Given the description of an element on the screen output the (x, y) to click on. 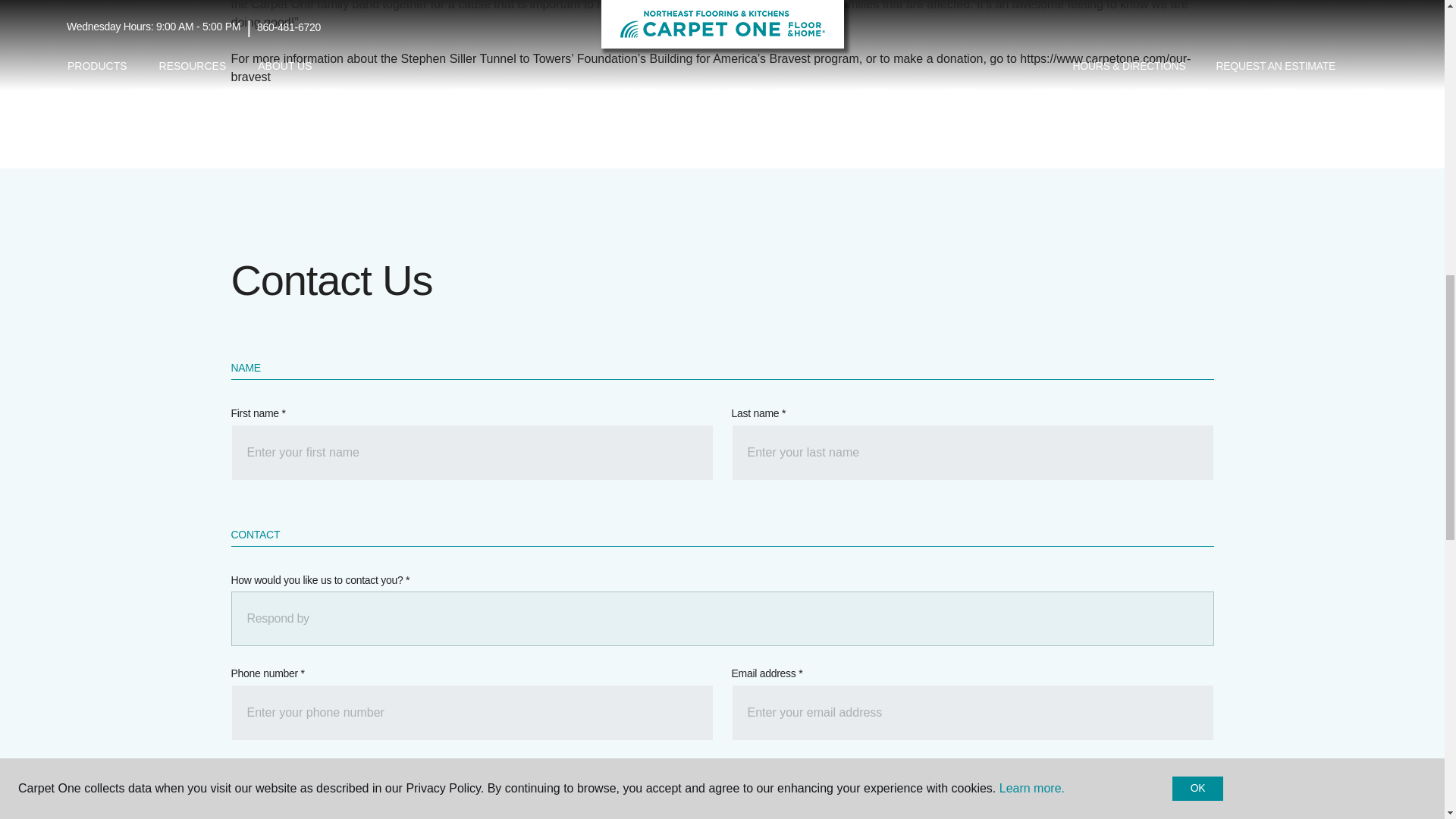
FirstName (471, 452)
EmailAddress (971, 712)
CleanHomePhone (471, 712)
PostalCode (471, 799)
LastName (971, 452)
